Given the description of an element on the screen output the (x, y) to click on. 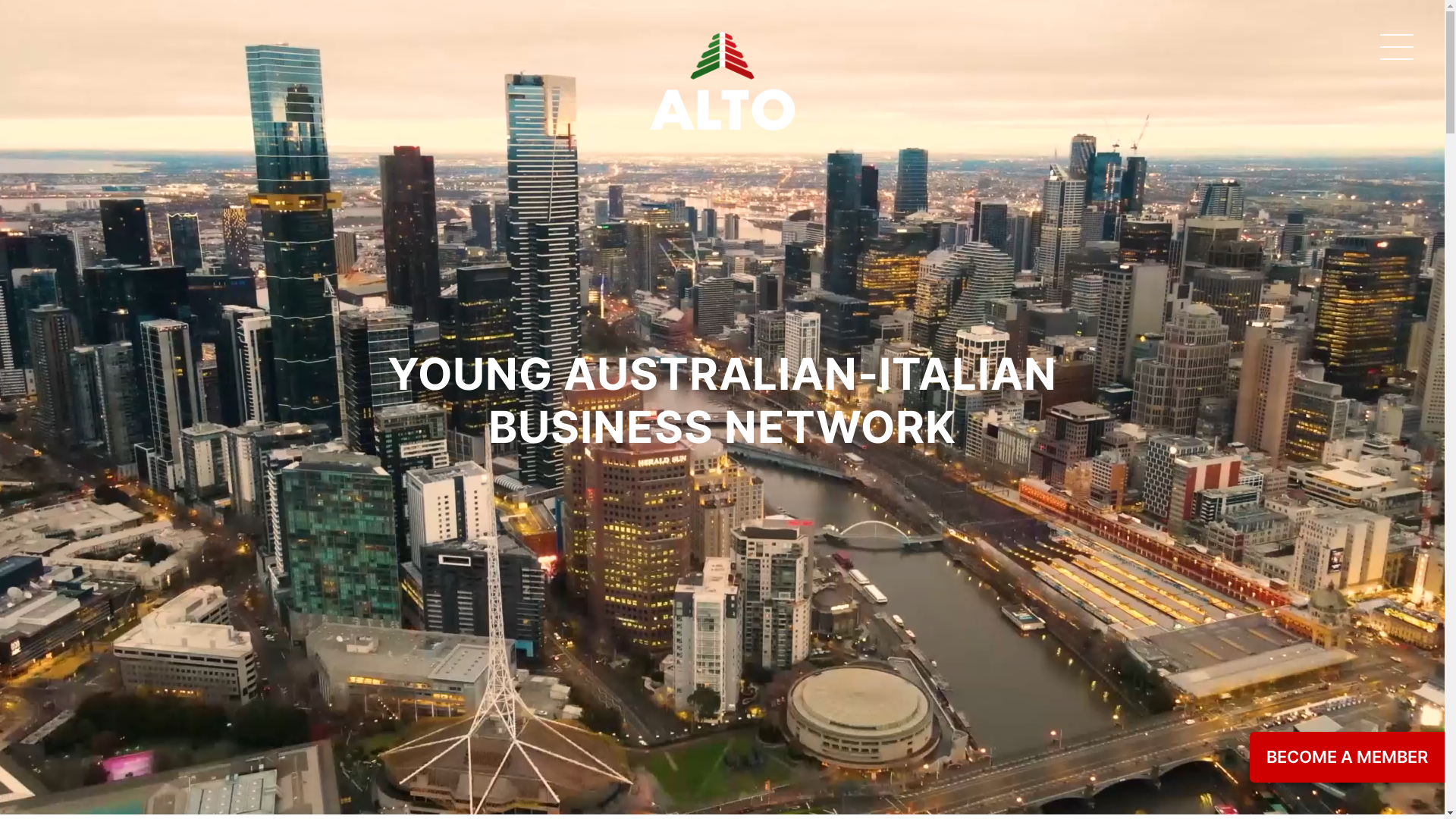
BECOME A MEMBER Element type: text (1346, 756)
